Given the description of an element on the screen output the (x, y) to click on. 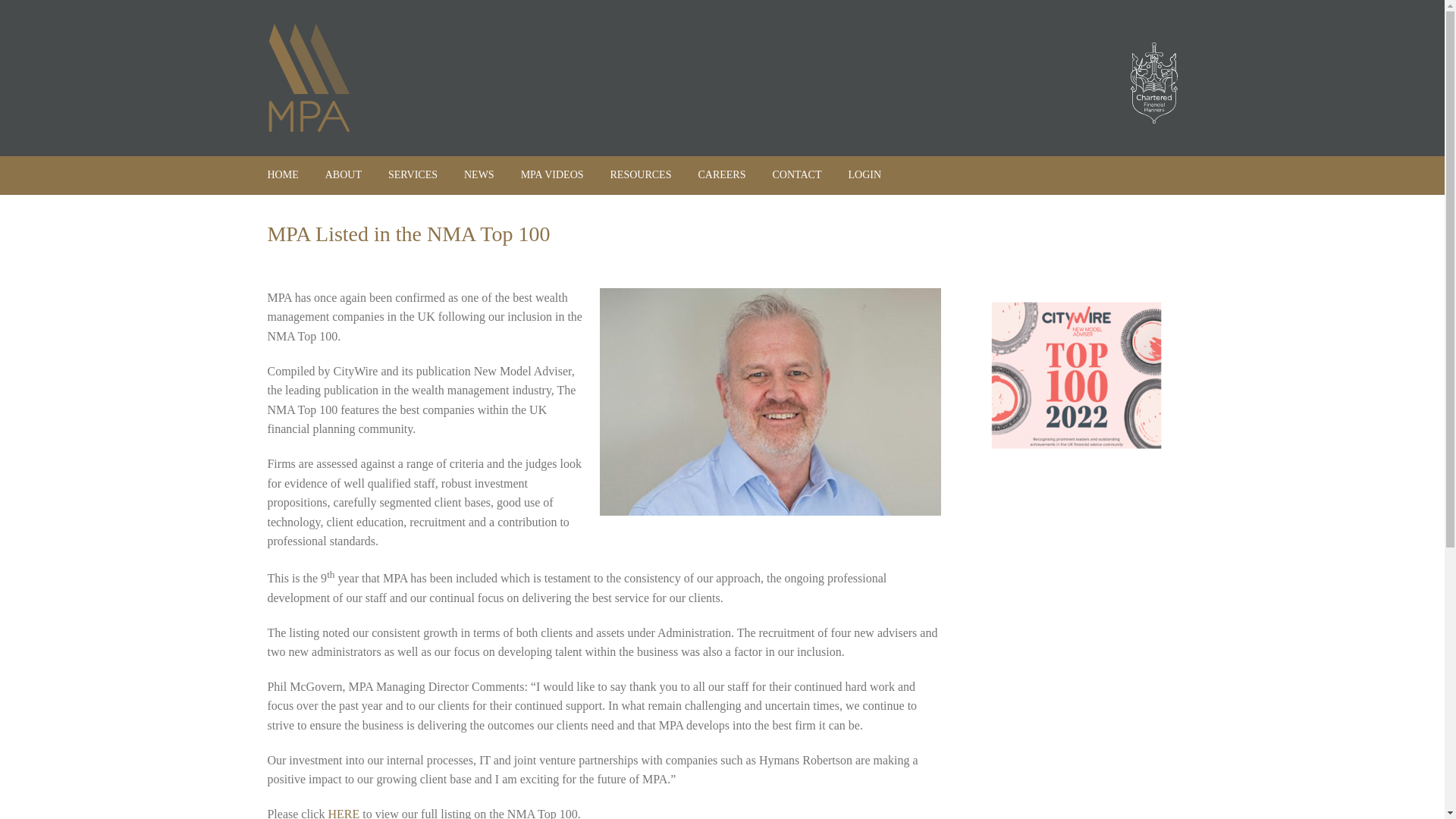
CONTACT (796, 175)
ABOUT (342, 175)
RESOURCES (640, 175)
HERE (343, 813)
MPA VIDEOS (552, 175)
NMA Top 100 3 (1076, 376)
CAREERS (721, 175)
SERVICES (413, 175)
